Given the description of an element on the screen output the (x, y) to click on. 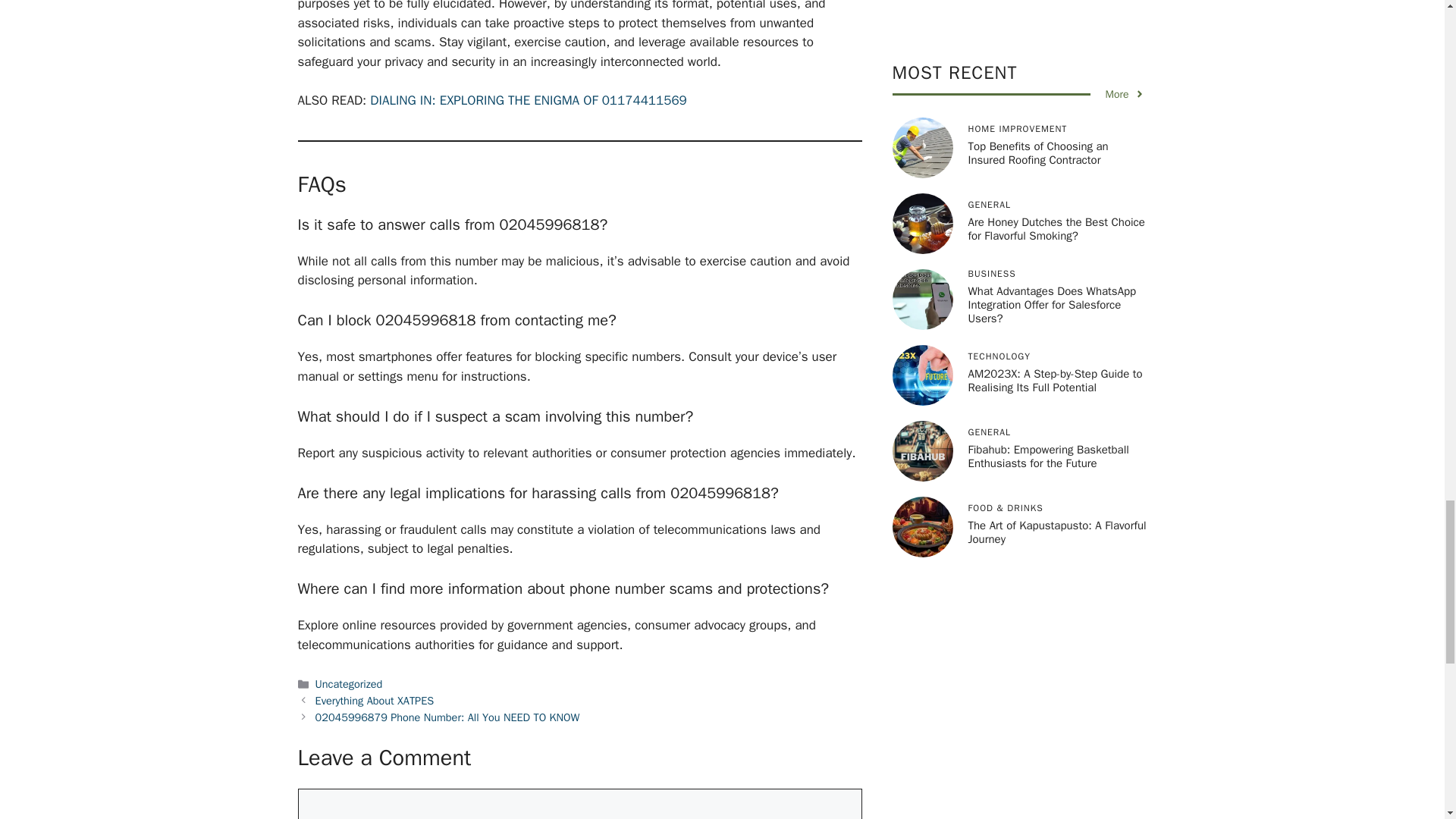
02045996879 Phone Number: All You NEED TO KNOW (447, 716)
Everything About XATPES (374, 700)
Uncategorized (348, 684)
DIALING IN: EXPLORING THE ENIGMA OF 01174411569 (528, 100)
